Given the description of an element on the screen output the (x, y) to click on. 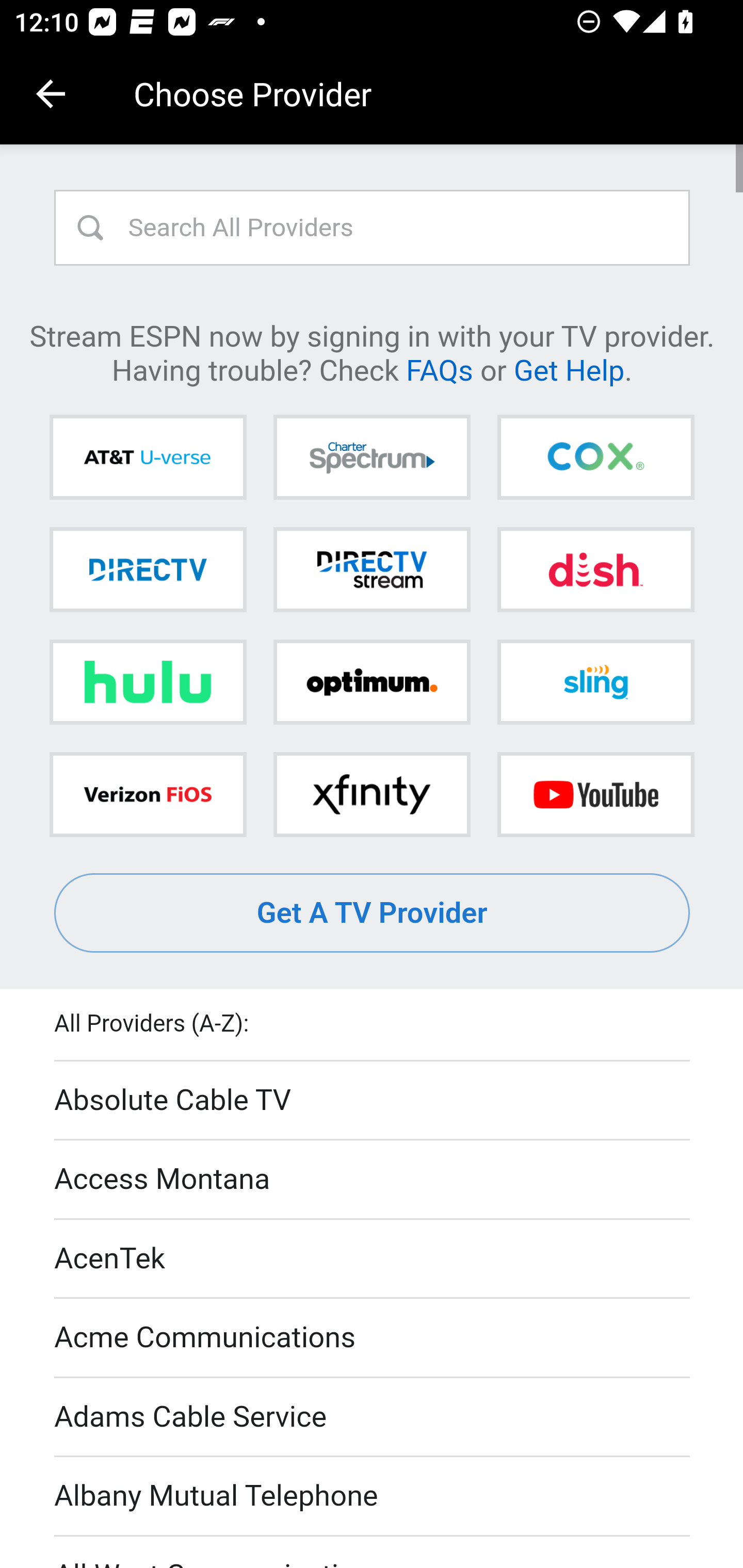
Navigate up (50, 93)
FAQs (438, 369)
Get Help (569, 369)
AT&T U-verse (147, 457)
Charter Spectrum (371, 457)
Cox (595, 457)
DIRECTV (147, 568)
DIRECTV STREAM (371, 568)
DISH (595, 568)
Hulu (147, 681)
Optimum (371, 681)
Sling TV (595, 681)
Verizon FiOS (147, 793)
Xfinity (371, 793)
YouTube TV (595, 793)
Get A TV Provider (372, 912)
Absolute Cable TV (372, 1100)
Access Montana (372, 1178)
AcenTek (372, 1258)
Acme Communications (372, 1338)
Adams Cable Service (372, 1417)
Albany Mutual Telephone (372, 1497)
